Given the description of an element on the screen output the (x, y) to click on. 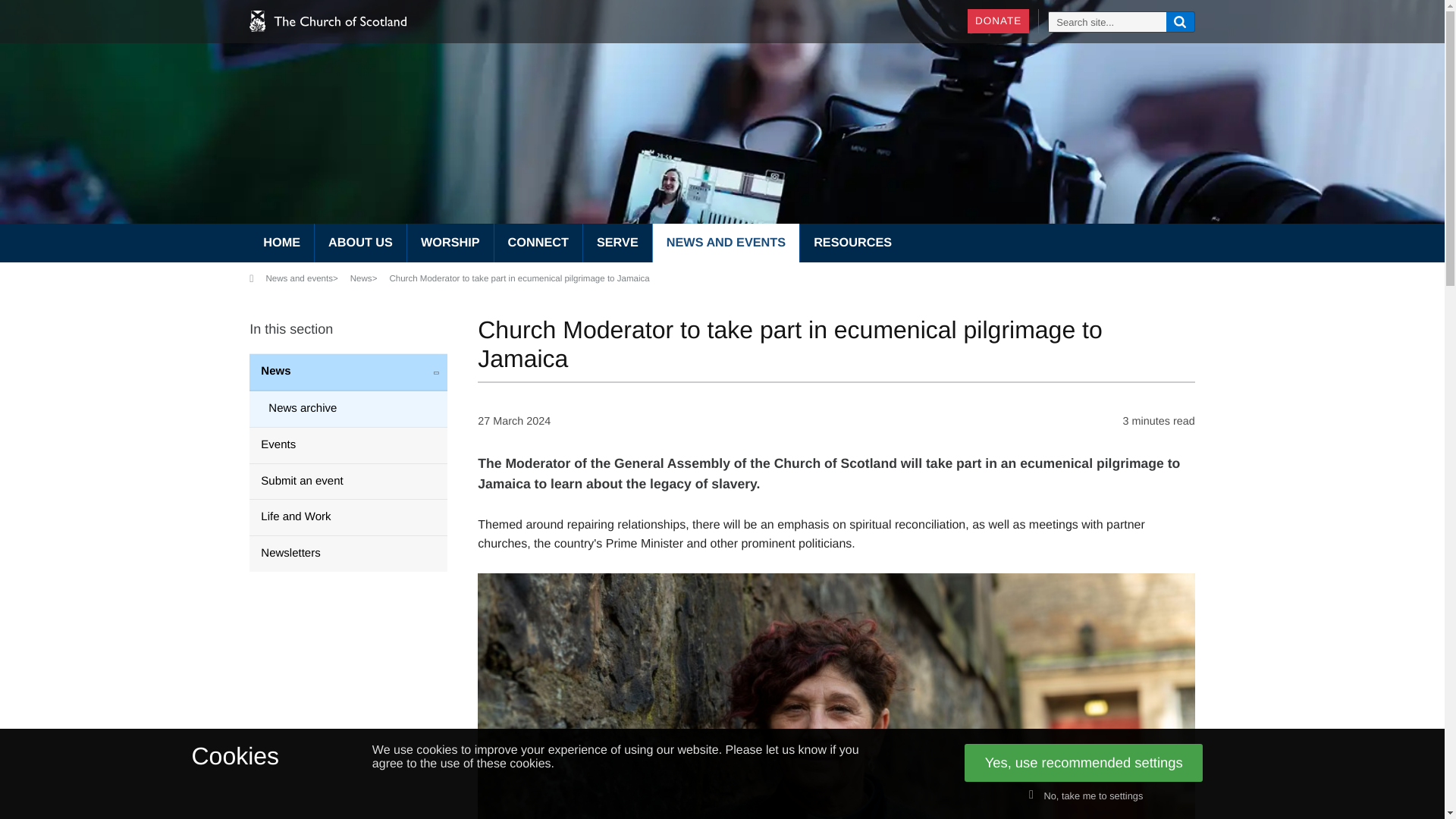
How we spread our message (538, 242)
WORSHIP (450, 242)
DONATE (998, 21)
ABOUT US (360, 242)
NEWS AND EVENTS (725, 242)
CONNECT (538, 242)
No, take me to settings (1083, 796)
Submit an event (347, 481)
Life and Work (347, 516)
The Church of Scotland homepage (281, 242)
Who we are and how we are organised (360, 242)
News (361, 279)
Newsletters (347, 553)
Church of Scotland homepage (327, 30)
News (347, 370)
